Given the description of an element on the screen output the (x, y) to click on. 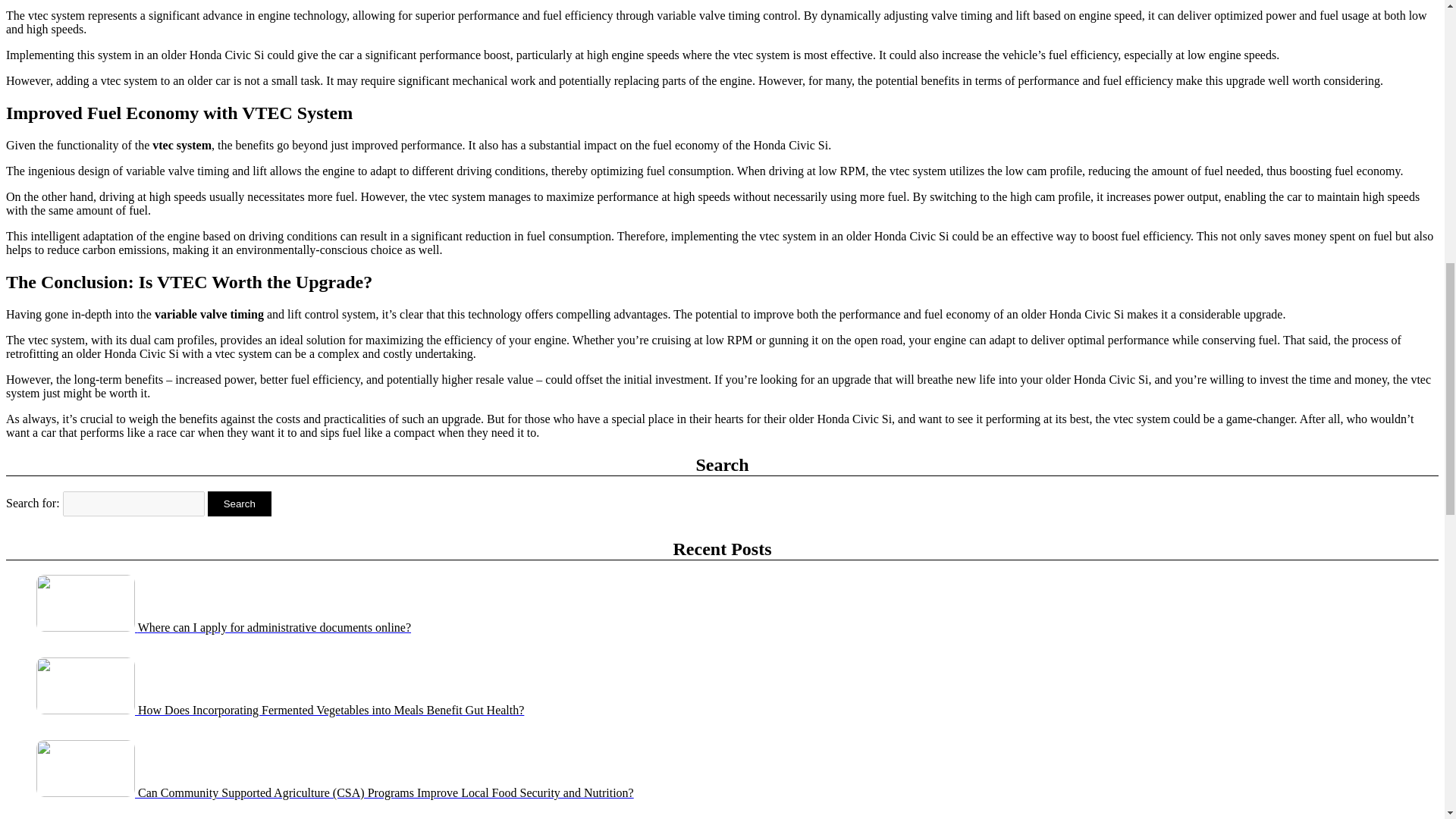
Search (239, 503)
Search (239, 503)
Where can I apply for administrative documents online? (223, 626)
